Given the description of an element on the screen output the (x, y) to click on. 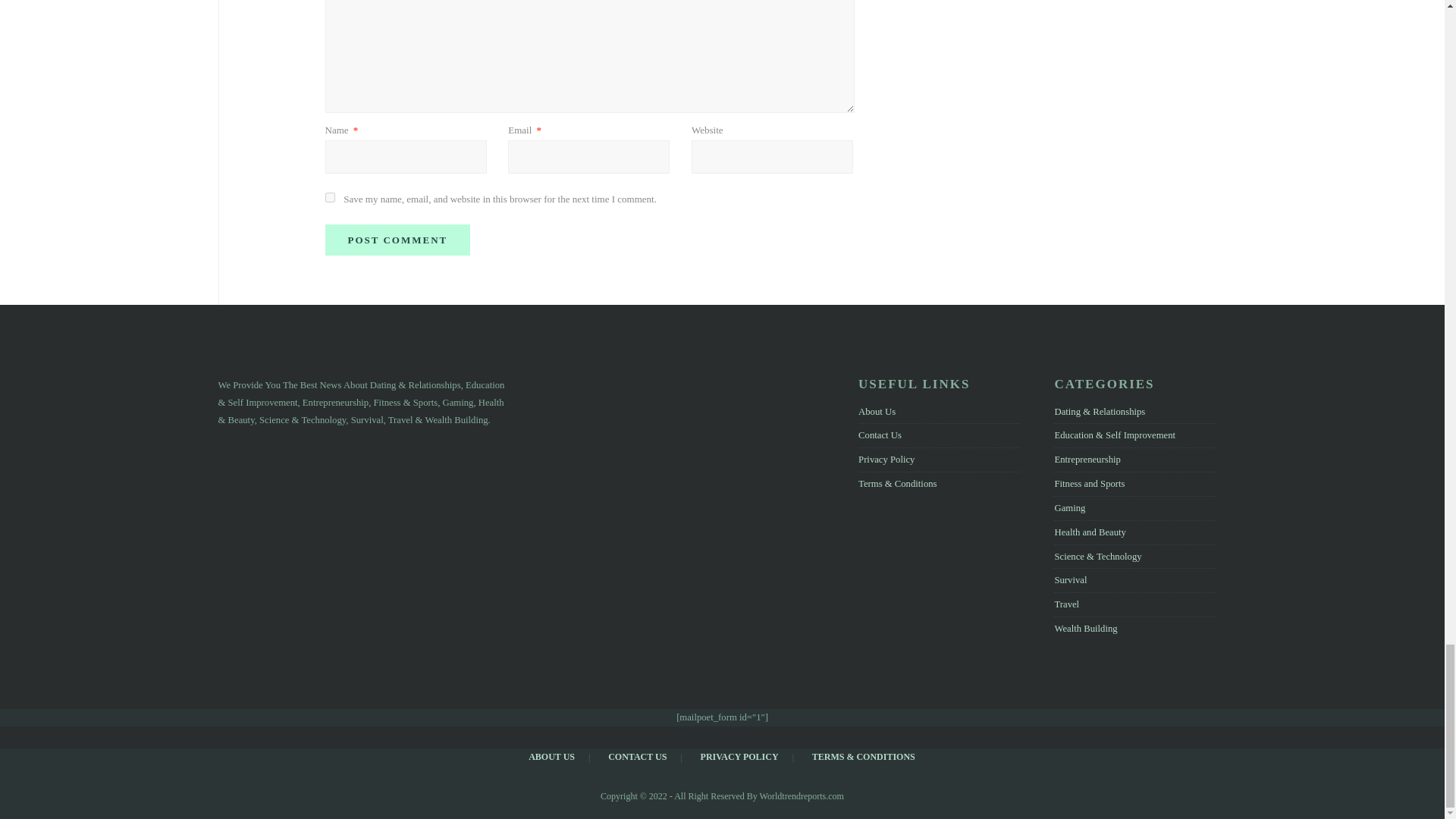
Post Comment (397, 240)
Post Comment (397, 240)
yes (329, 197)
